Given the description of an element on the screen output the (x, y) to click on. 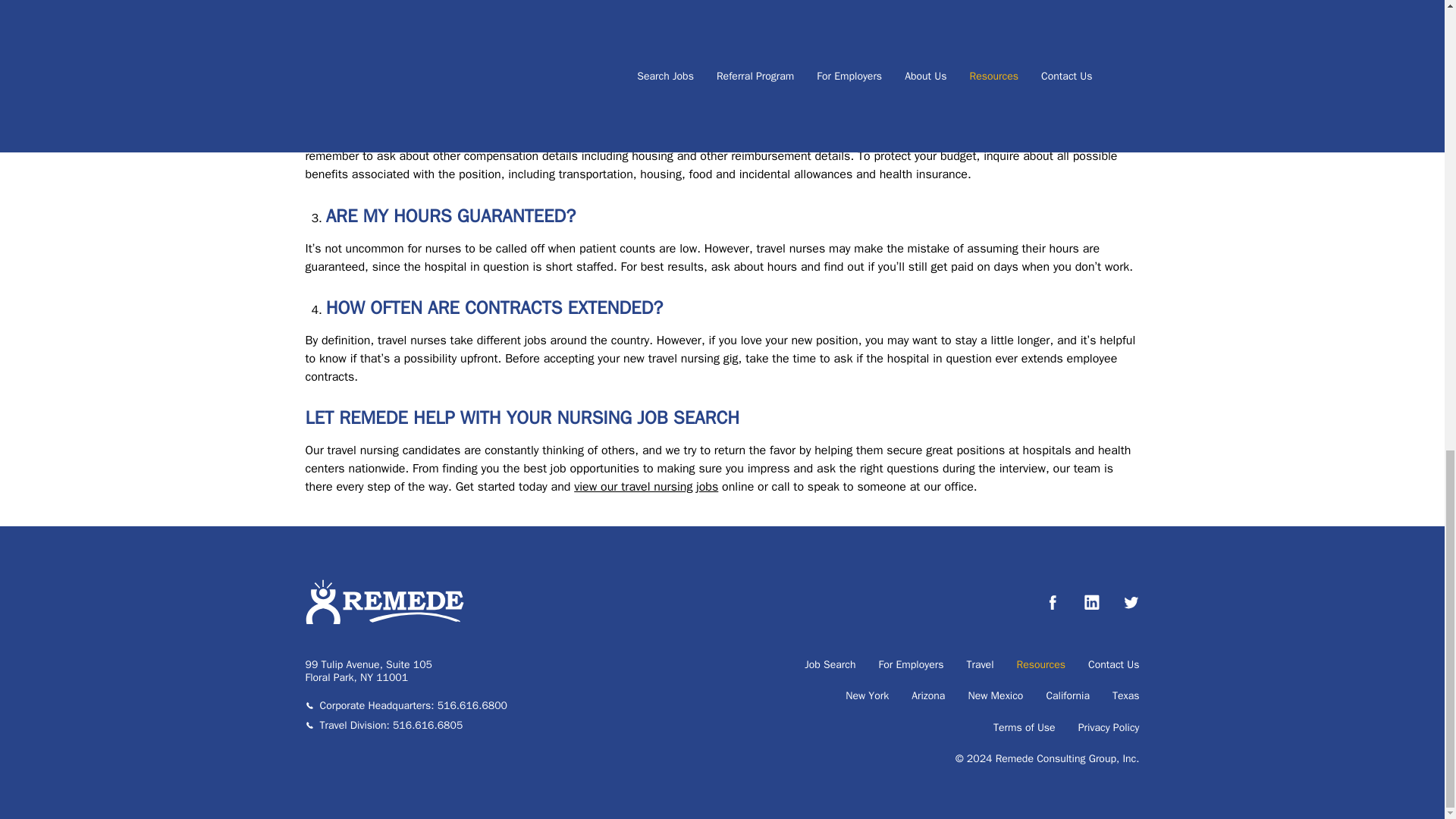
Resources (1040, 664)
Travel (979, 664)
Arizona (927, 695)
For Employers (911, 664)
Contact Us (1112, 664)
Go to the home page. (384, 620)
Job Search (830, 664)
516.616.6805 (428, 725)
view our travel nursing jobs (645, 486)
516.616.6800 (472, 705)
